Given the description of an element on the screen output the (x, y) to click on. 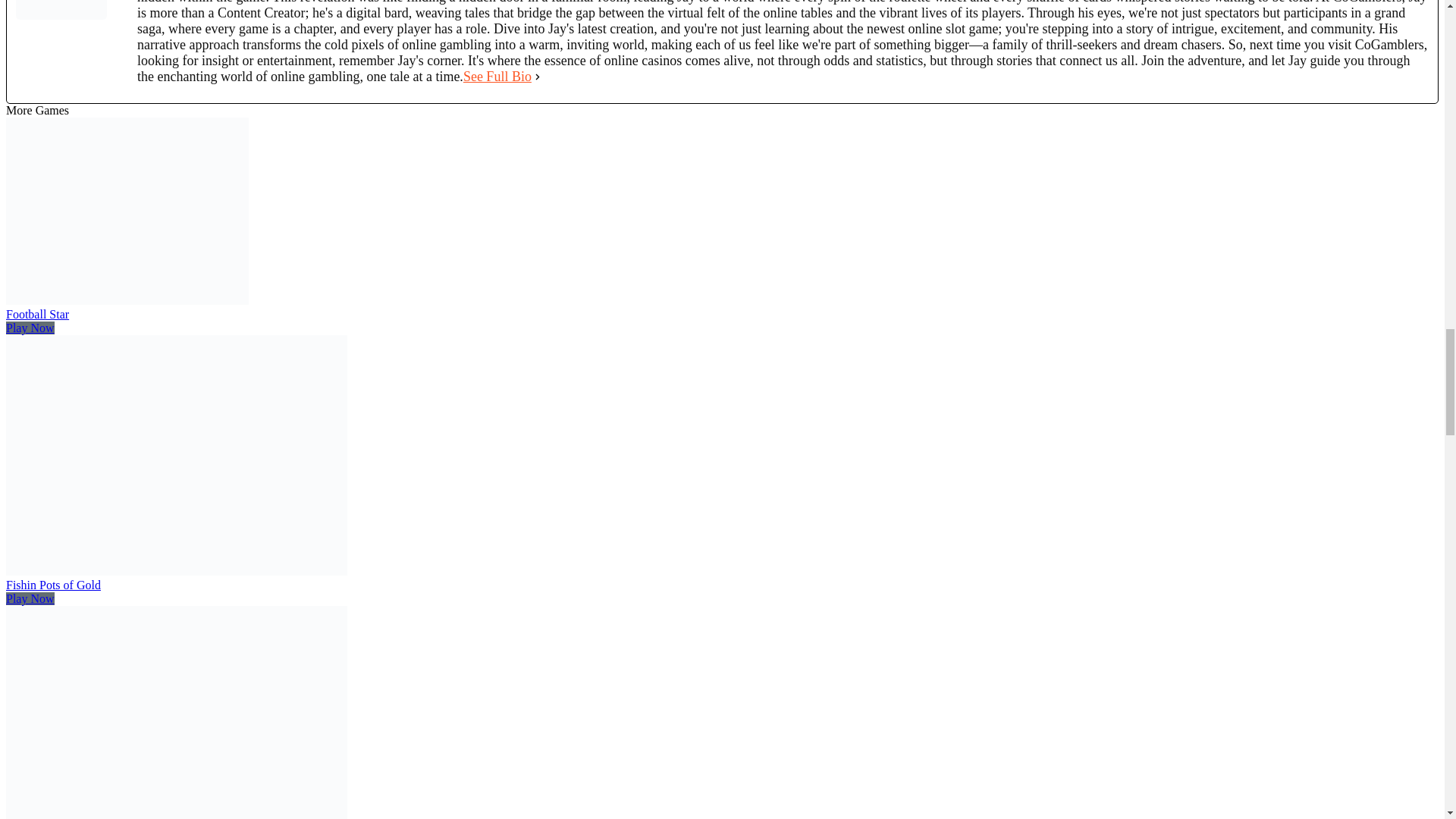
Football Star (36, 314)
Football Star (126, 300)
Football Star - cogamblers (126, 210)
